Given the description of an element on the screen output the (x, y) to click on. 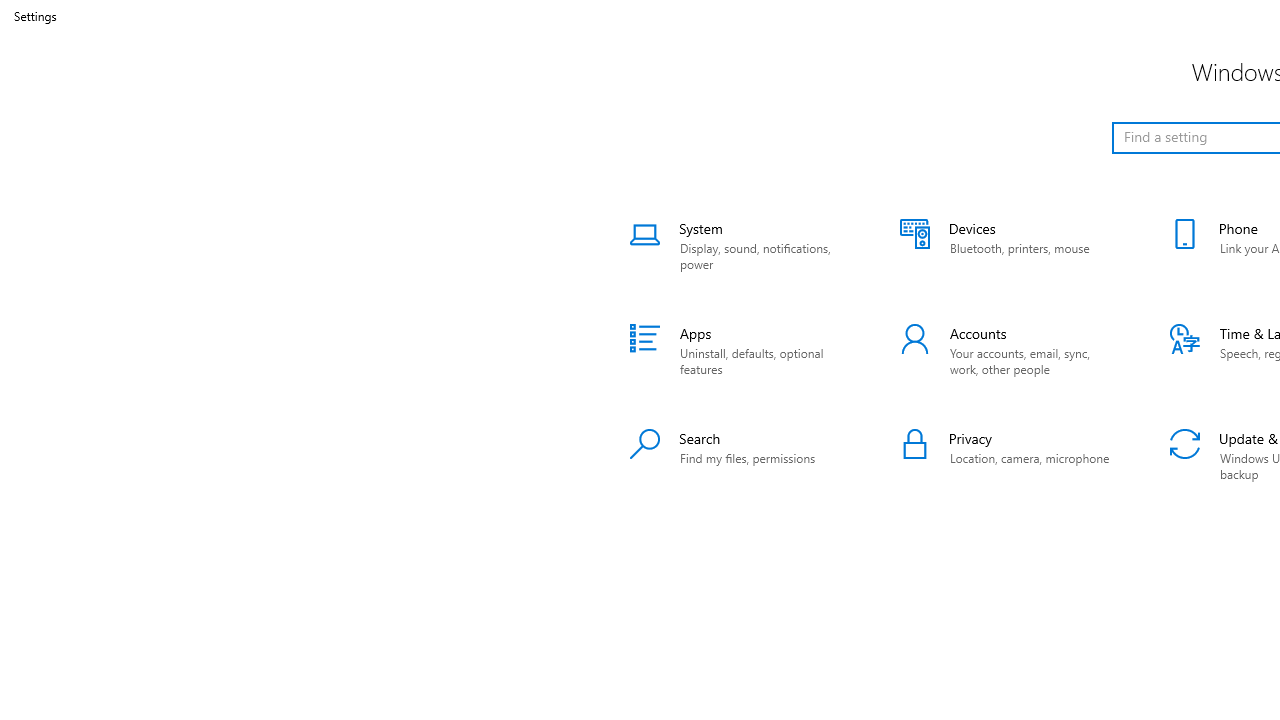
Accounts (1009, 350)
Search (739, 455)
Privacy (1009, 455)
Apps (739, 350)
System (739, 245)
Devices (1009, 245)
